Given the description of an element on the screen output the (x, y) to click on. 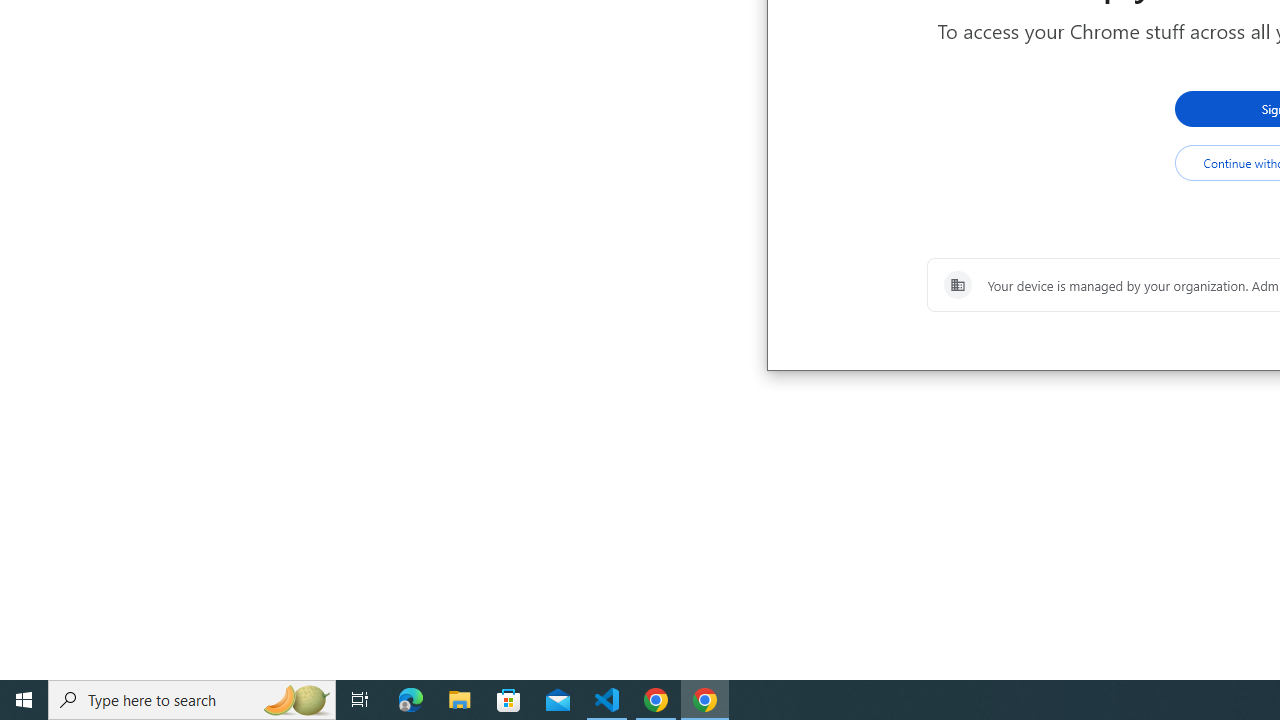
Task View (359, 699)
Microsoft Store (509, 699)
Start (24, 699)
Visual Studio Code - 1 running window (607, 699)
Microsoft Edge (411, 699)
Google Chrome - 1 running window (704, 699)
File Explorer (460, 699)
Search highlights icon opens search home window (295, 699)
Type here to search (191, 699)
